Given the description of an element on the screen output the (x, y) to click on. 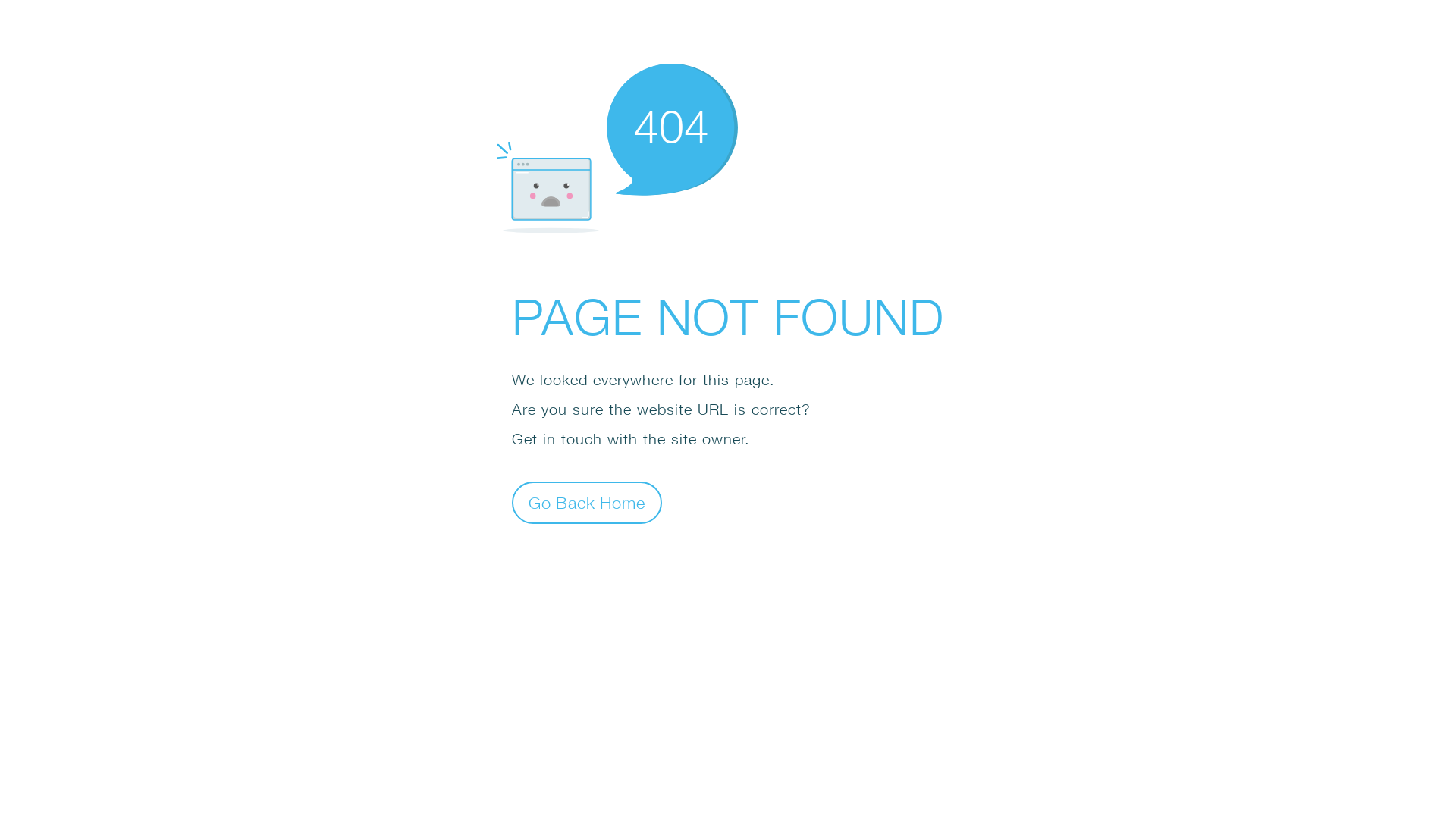
Go Back Home Element type: text (586, 502)
